Given the description of an element on the screen output the (x, y) to click on. 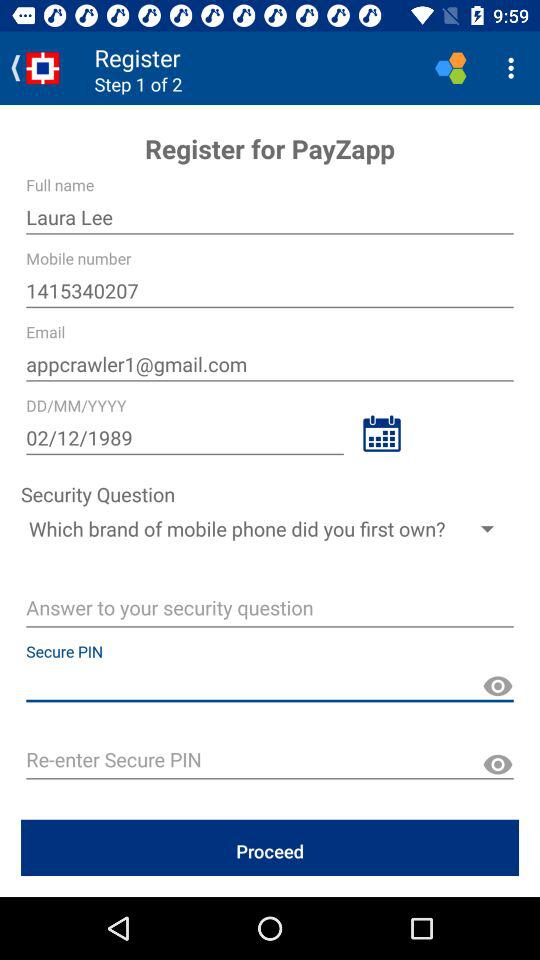
view secure information (498, 686)
